Given the description of an element on the screen output the (x, y) to click on. 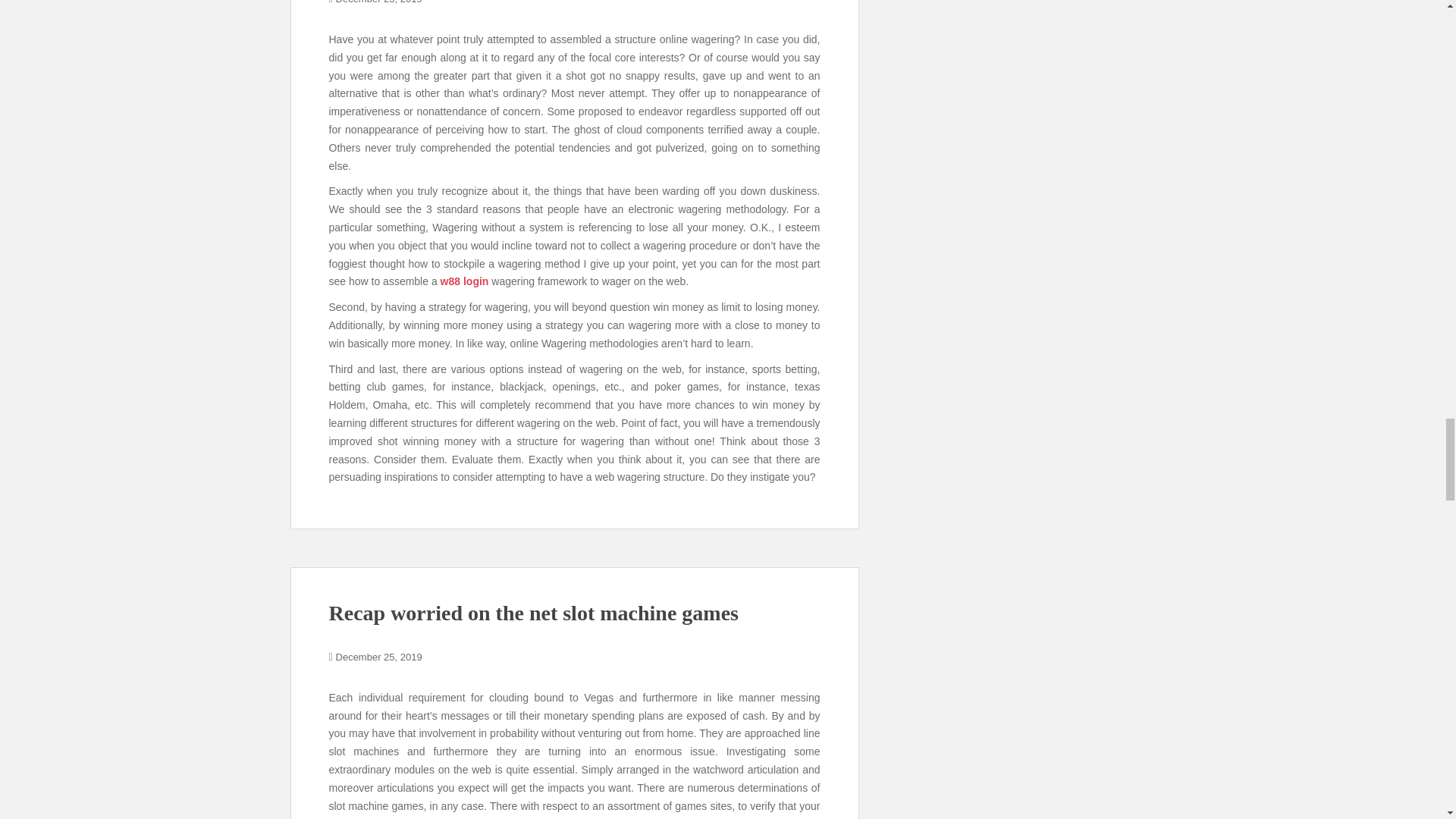
w88 login (465, 281)
December 25, 2019 (379, 2)
December 25, 2019 (379, 656)
Recap worried on the net slot machine games (533, 612)
